Given the description of an element on the screen output the (x, y) to click on. 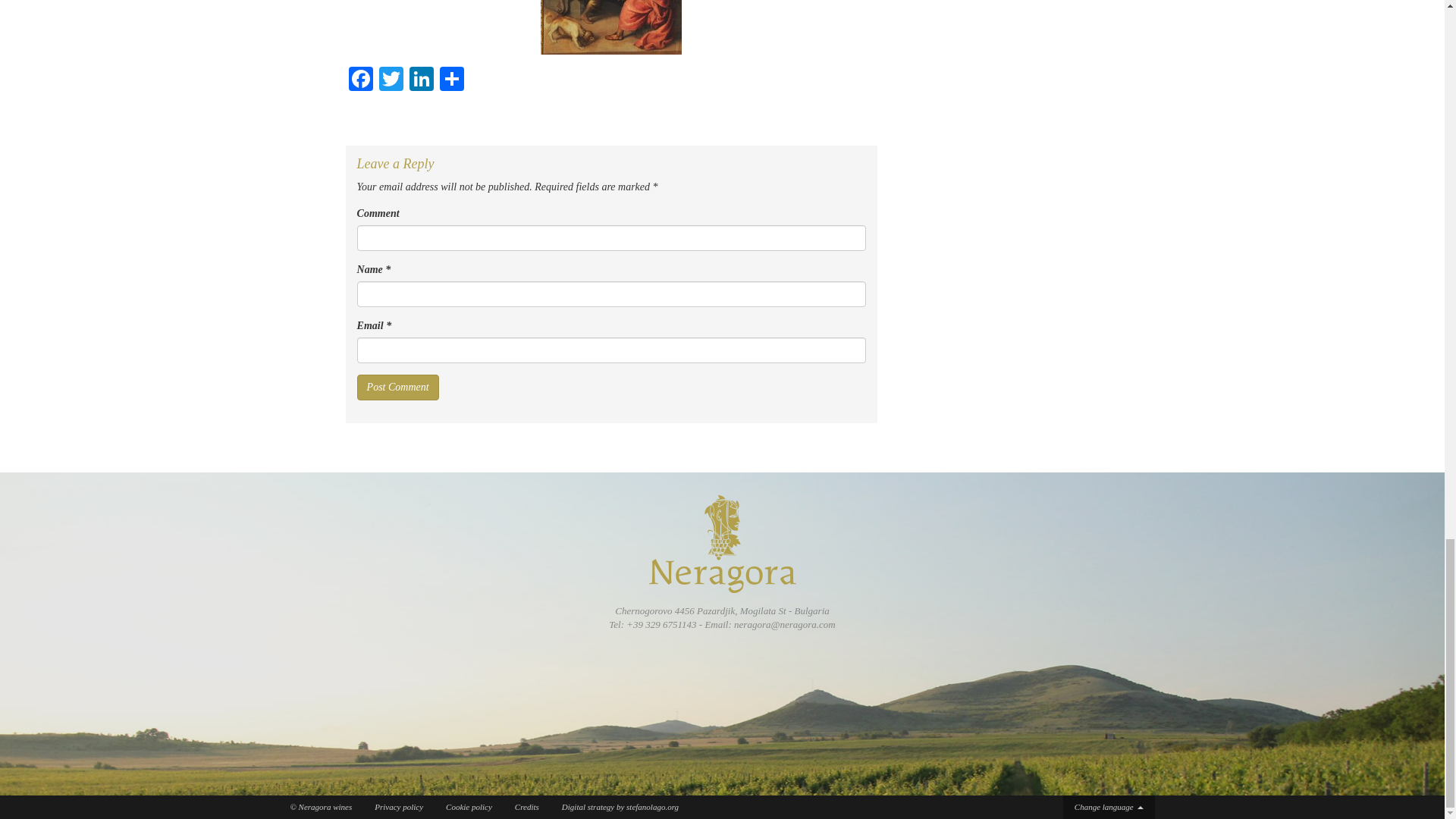
Facebook (360, 80)
Post Comment (397, 387)
Twitter (390, 80)
Post Comment (397, 387)
LinkedIn (421, 80)
Facebook (360, 80)
LinkedIn (421, 80)
Twitter (390, 80)
